Given the description of an element on the screen output the (x, y) to click on. 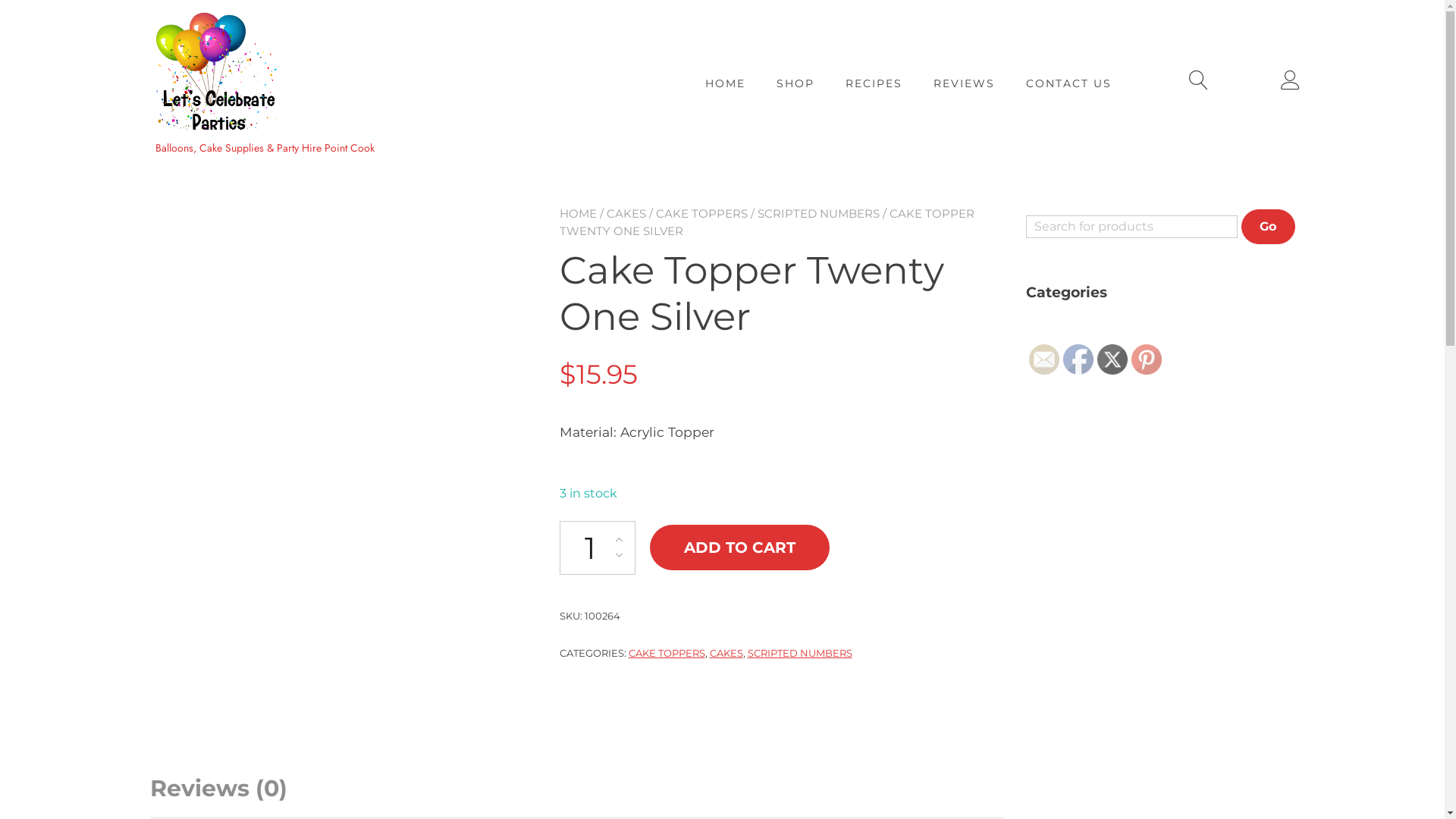
CAKE TOPPERS Element type: text (700, 213)
Pinterest Element type: hover (1146, 359)
Facebook Element type: hover (1078, 359)
ADD TO CART Element type: text (738, 547)
CONTACT US Element type: text (1068, 83)
RECIPES Element type: text (873, 83)
SCRIPTED NUMBERS Element type: text (799, 652)
REVIEWS Element type: text (963, 83)
CAKE TOPPERS Element type: text (665, 652)
CAKES Element type: text (726, 652)
CAKES Element type: text (626, 213)
Twitter Element type: hover (1111, 359)
HOME Element type: text (725, 83)
Go Element type: text (1268, 226)
HOME Element type: text (577, 213)
SHOP Element type: text (795, 83)
Go Element type: hover (1268, 226)
SCRIPTED NUMBERS Element type: text (817, 213)
Follow by Email Element type: hover (1043, 359)
